Given the description of an element on the screen output the (x, y) to click on. 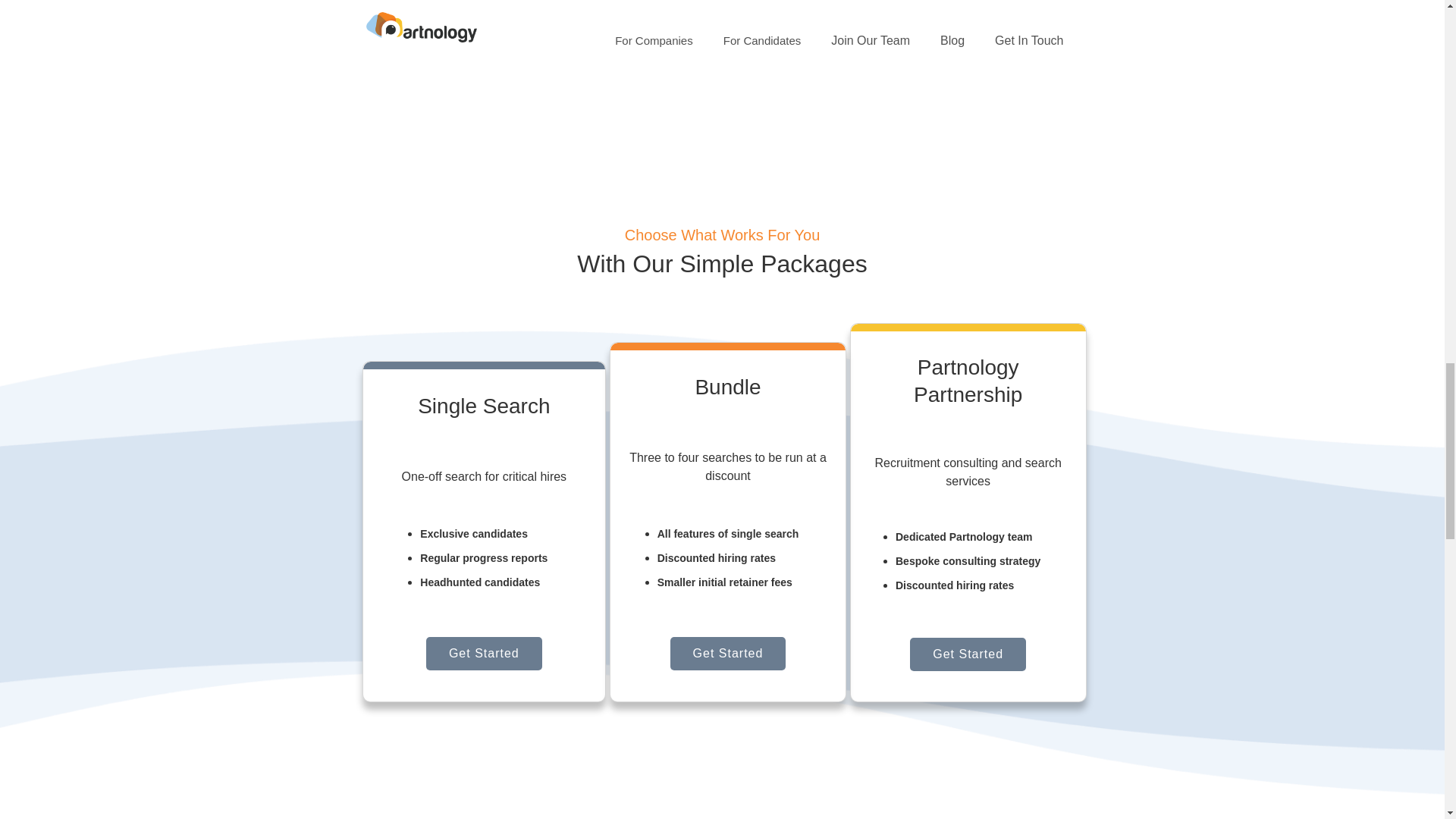
Get Started (483, 653)
Get Started (727, 653)
Get Started (968, 654)
